Given the description of an element on the screen output the (x, y) to click on. 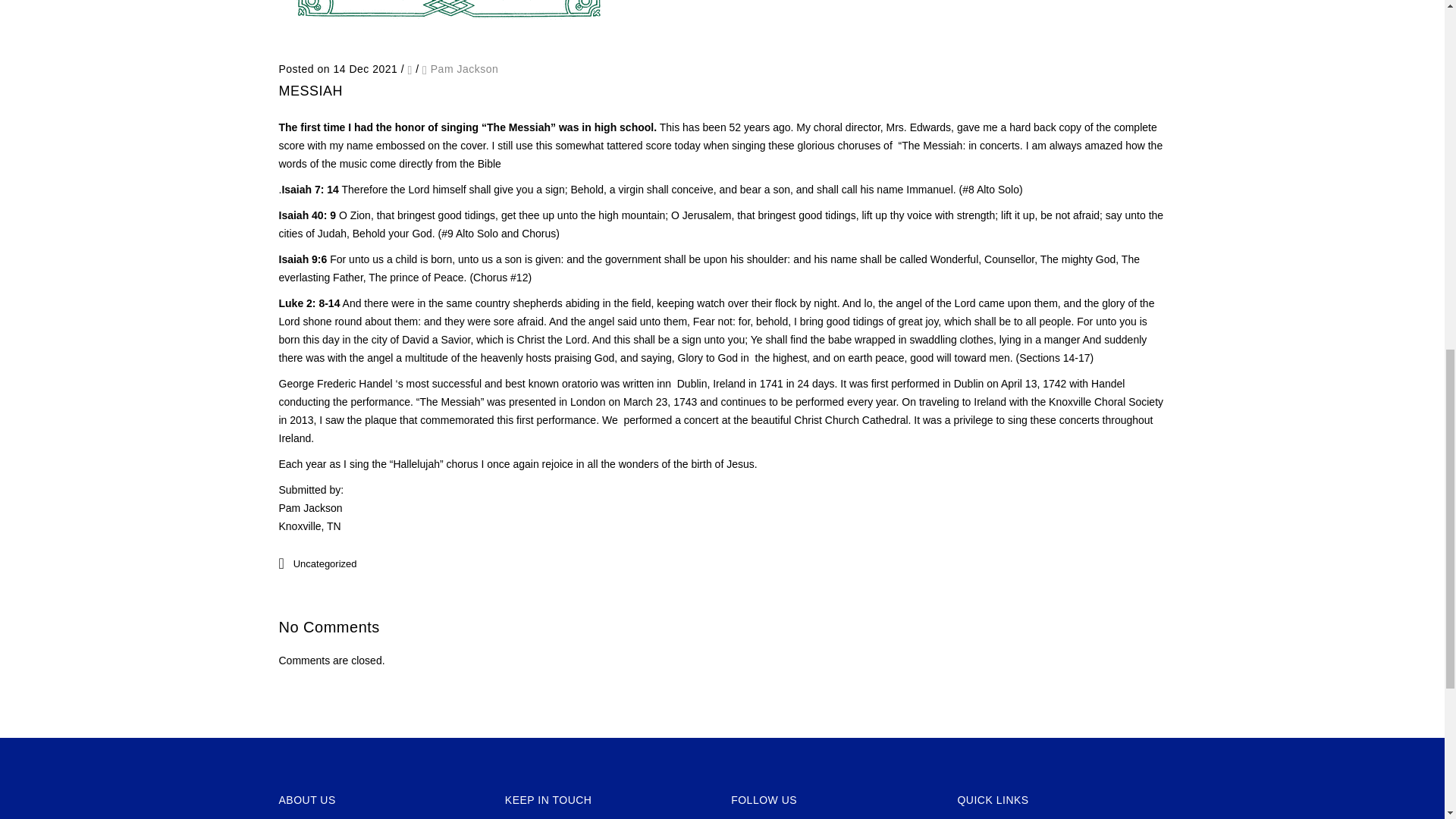
View all posts by Pam Jackson (464, 69)
Pam Jackson (464, 69)
Permalink to Messiah (449, 40)
Uncategorized (325, 563)
Permalink to Messiah (311, 90)
MESSIAH (311, 90)
